Given the description of an element on the screen output the (x, y) to click on. 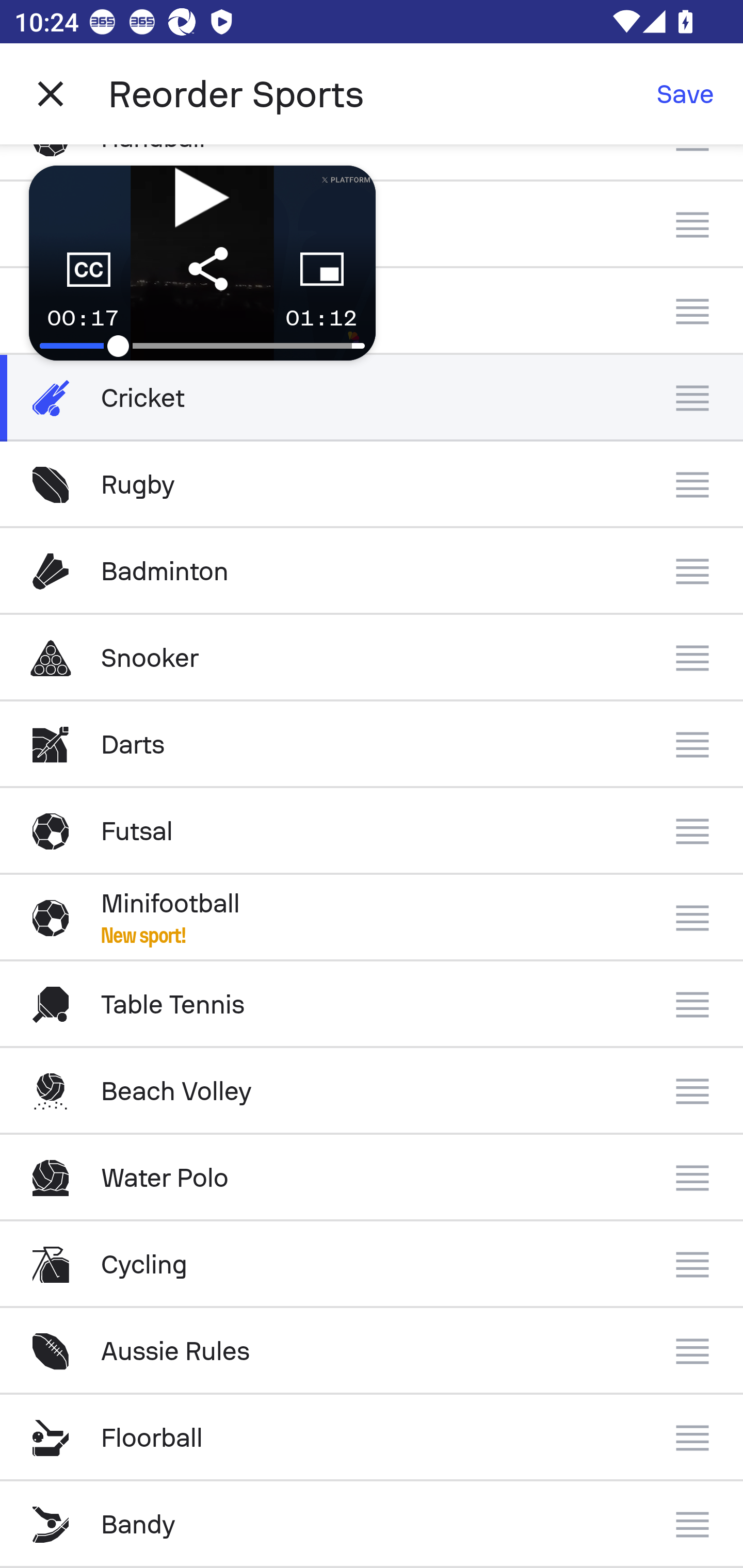
Save (684, 93)
Cricket (371, 398)
Rugby (371, 485)
Badminton (371, 571)
Snooker (371, 657)
Darts (371, 744)
Futsal (371, 831)
Minifootball New sport! (371, 917)
Table Tennis (371, 1004)
Beach Volley (371, 1091)
Water Polo (371, 1178)
Cycling (371, 1264)
Aussie Rules (371, 1350)
Floorball (371, 1437)
Bandy (371, 1524)
